Given the description of an element on the screen output the (x, y) to click on. 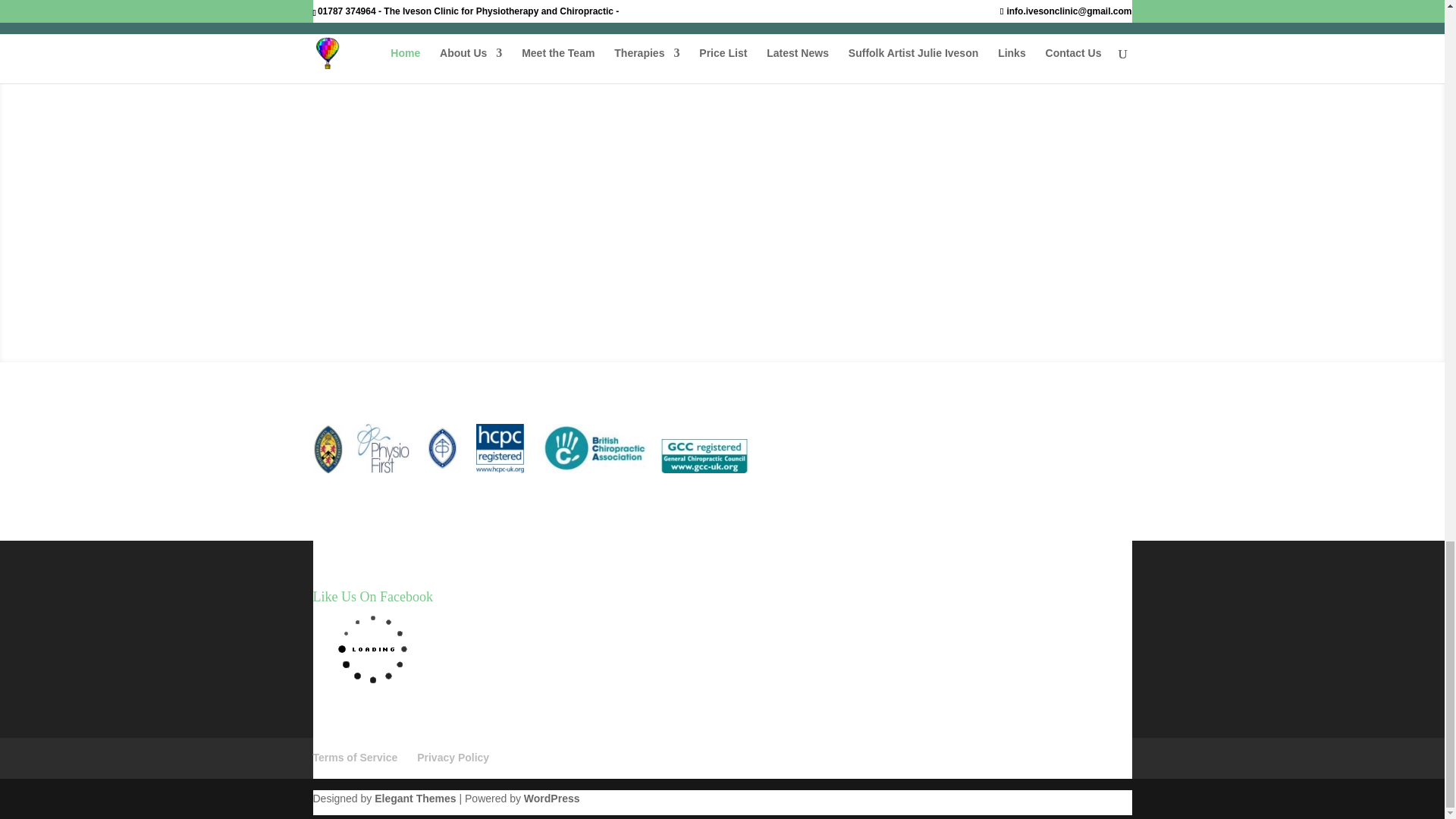
Premium WordPress Themes (414, 798)
Contact Us (724, 163)
